Given the description of an element on the screen output the (x, y) to click on. 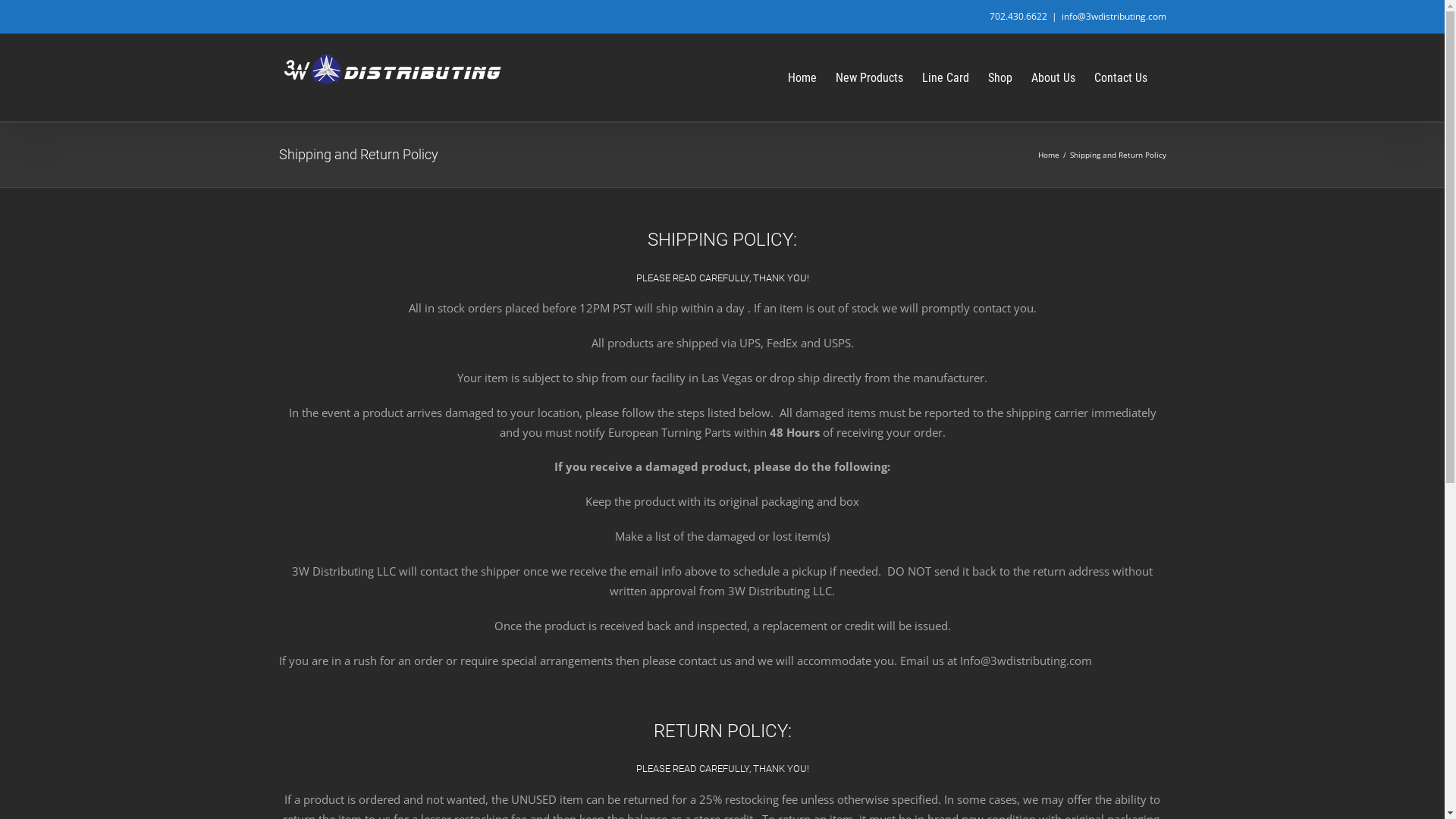
New Products Element type: text (869, 77)
Contact Us Element type: text (1119, 77)
Shop Element type: text (999, 77)
Home Element type: text (801, 77)
Home Element type: text (1047, 154)
Line Card Element type: text (945, 77)
info@3wdistributing.com Element type: text (1113, 15)
About Us Element type: text (1053, 77)
